Given the description of an element on the screen output the (x, y) to click on. 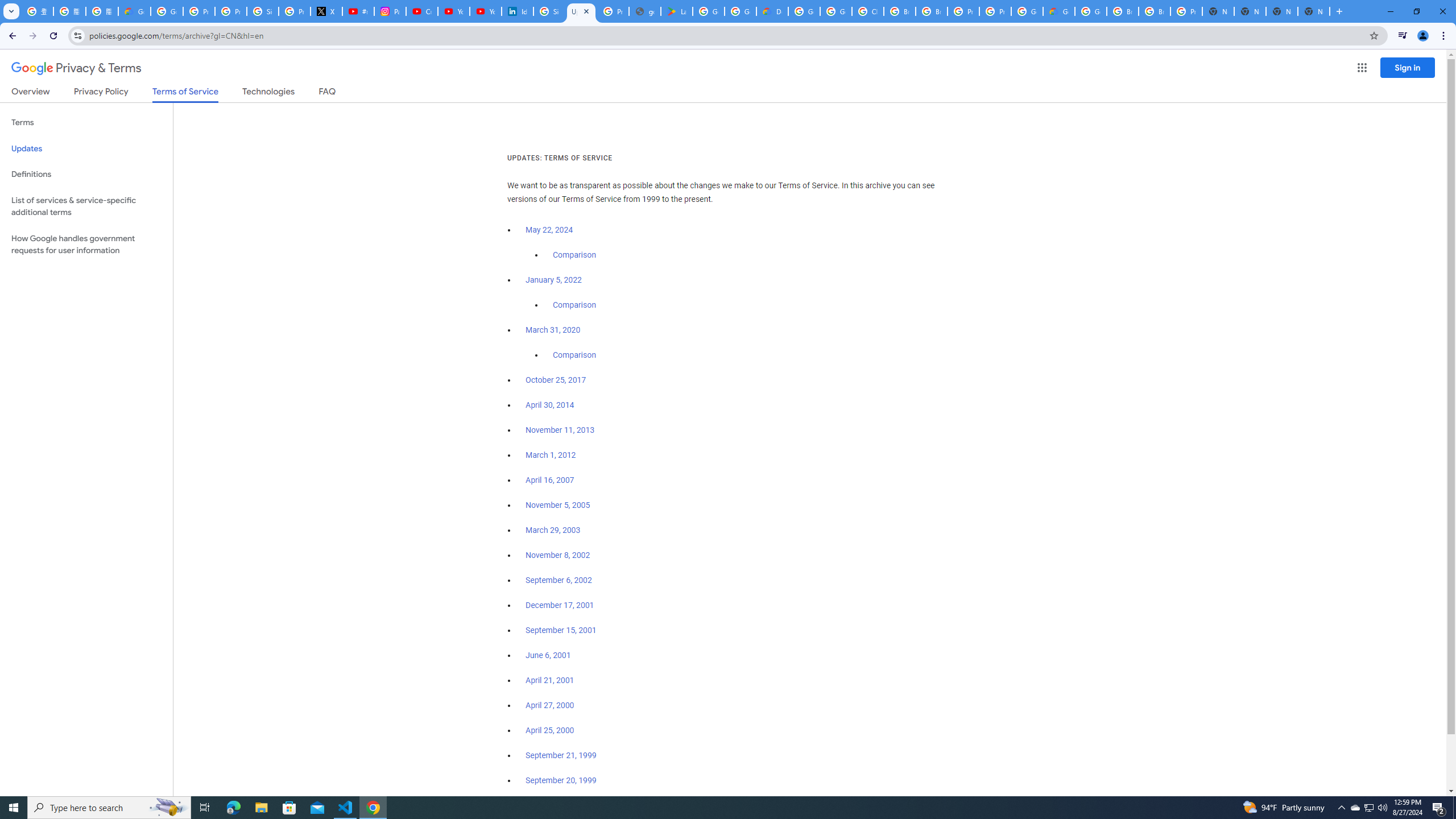
Sign in - Google Accounts (262, 11)
April 30, 2014 (550, 405)
March 1, 2012 (550, 455)
September 21, 1999 (560, 755)
September 15, 2001 (560, 629)
June 6, 2001 (547, 655)
